Given the description of an element on the screen output the (x, y) to click on. 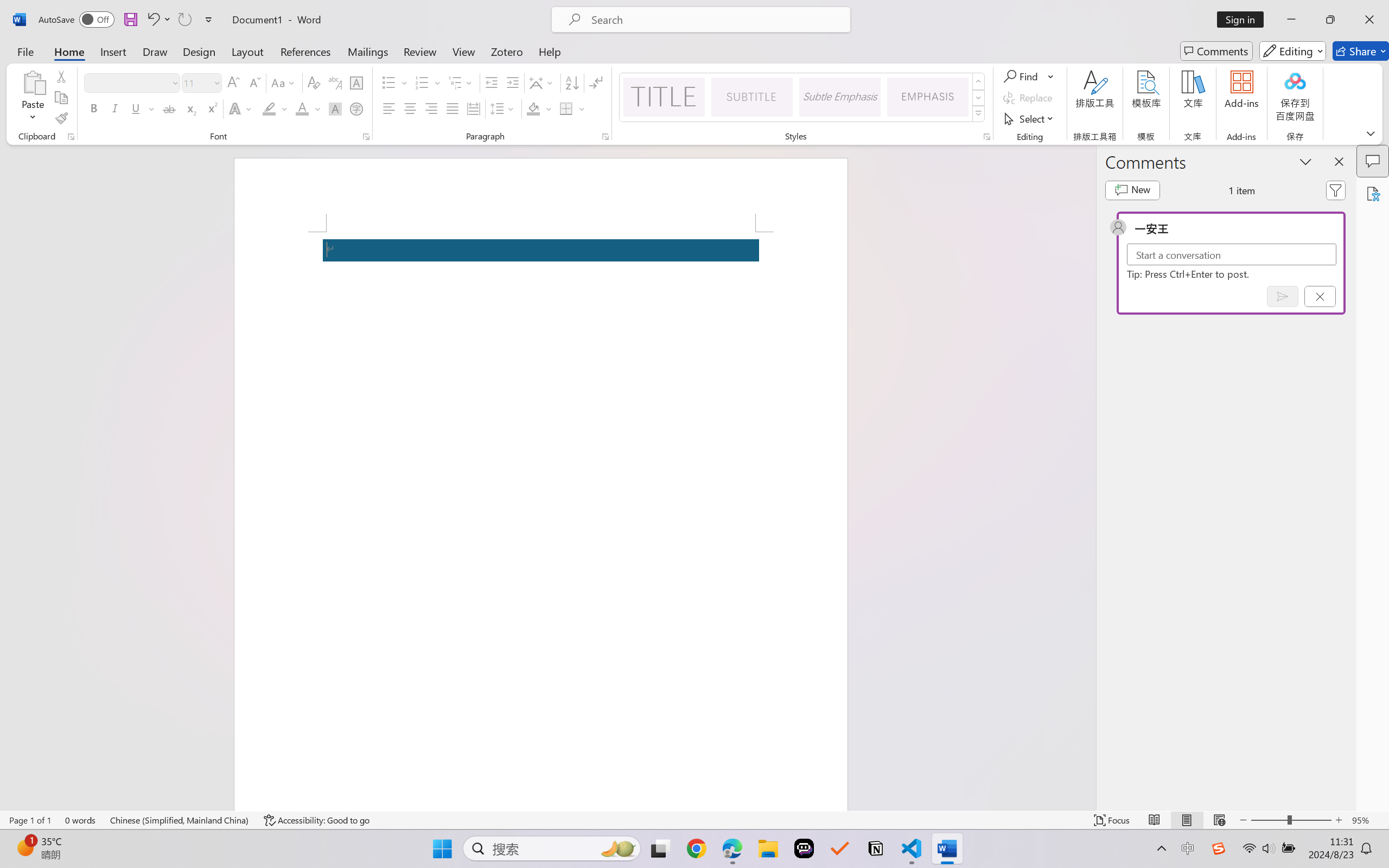
Filter (1335, 190)
Start a conversation (1231, 254)
New comment (1132, 190)
